Given the description of an element on the screen output the (x, y) to click on. 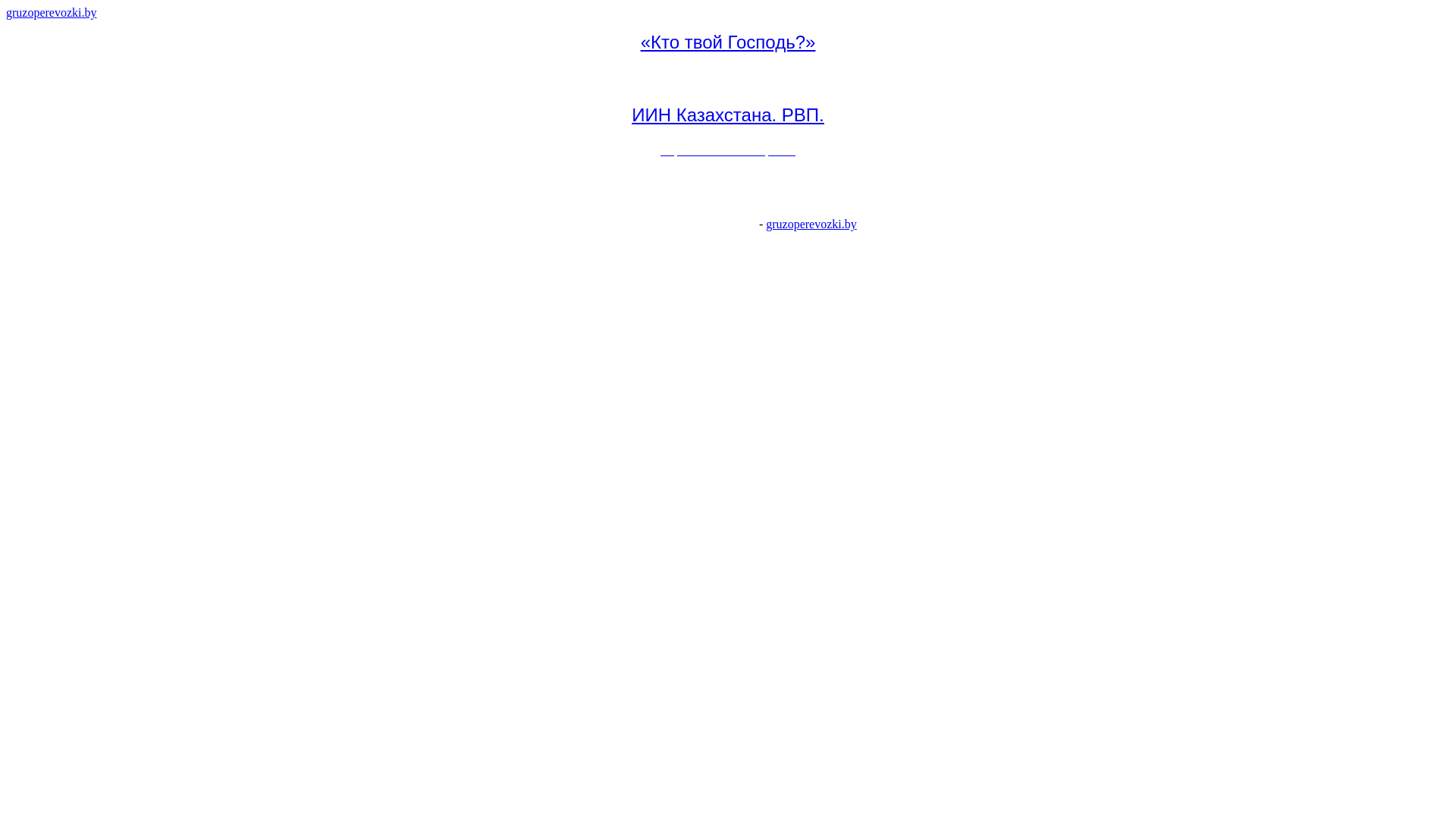
gruzoperevozki.by Element type: text (51, 12)
gruzoperevozki.by Element type: text (810, 223)
